Given the description of an element on the screen output the (x, y) to click on. 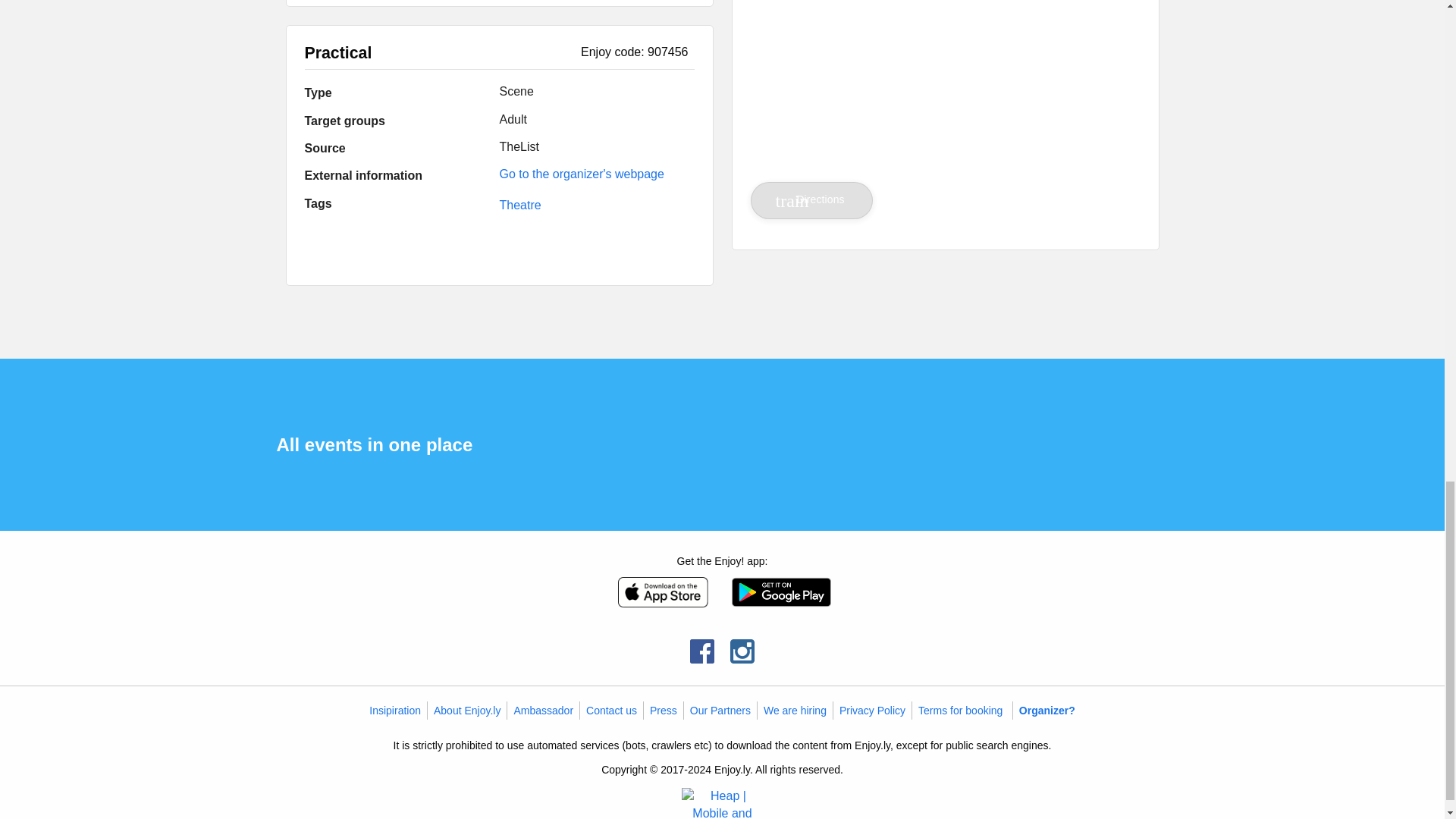
Press (663, 710)
train Directions (812, 200)
Terms for booking (960, 710)
Privacy Policy (872, 710)
We are hiring (794, 710)
Theatre (519, 205)
Activities tagged withTheatre (519, 205)
Contact us (611, 710)
Ambassador (543, 710)
About Enjoy.ly (466, 710)
Go to the organizer's webpage (581, 173)
Our Partners (720, 710)
Organizer? (1047, 710)
Insipiration (394, 710)
